Given the description of an element on the screen output the (x, y) to click on. 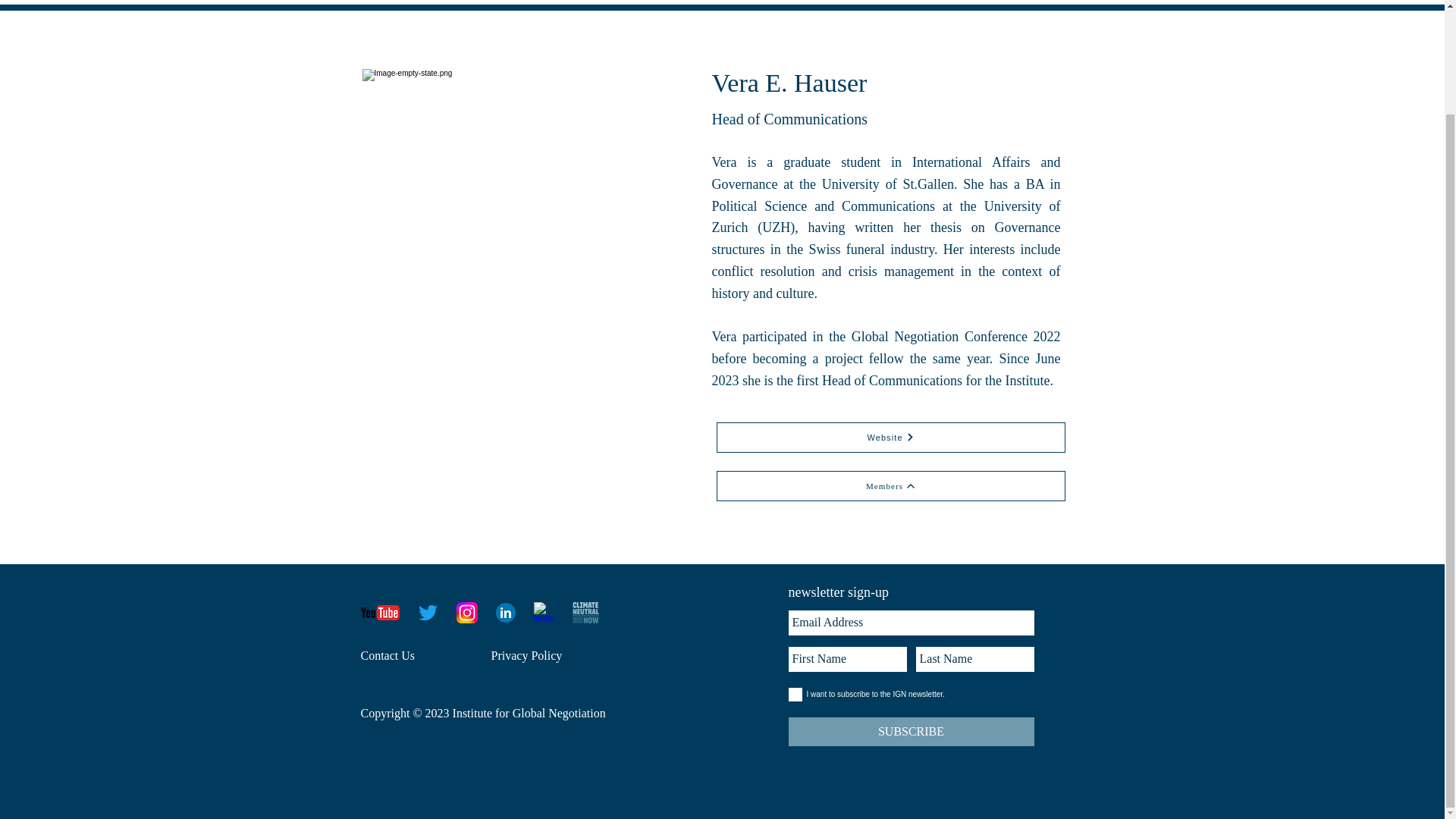
Contact Us (387, 655)
Projects (888, 5)
Events (753, 5)
SUBSCRIBE (911, 731)
About (693, 5)
Members (890, 485)
Courses (820, 5)
Website (890, 437)
Resources (963, 5)
Privacy Policy (527, 655)
